Given the description of an element on the screen output the (x, y) to click on. 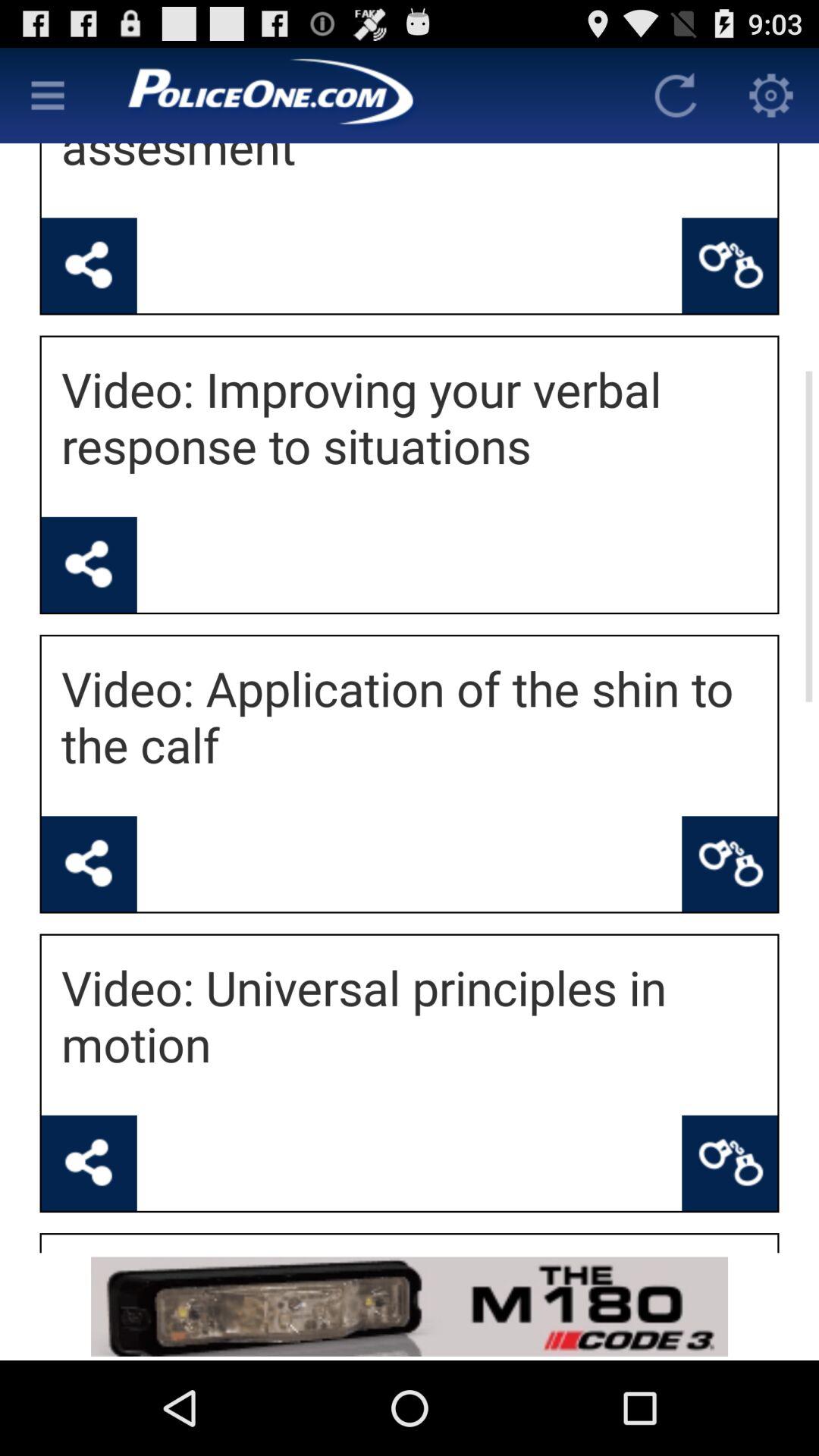
share the video (89, 265)
